Given the description of an element on the screen output the (x, y) to click on. 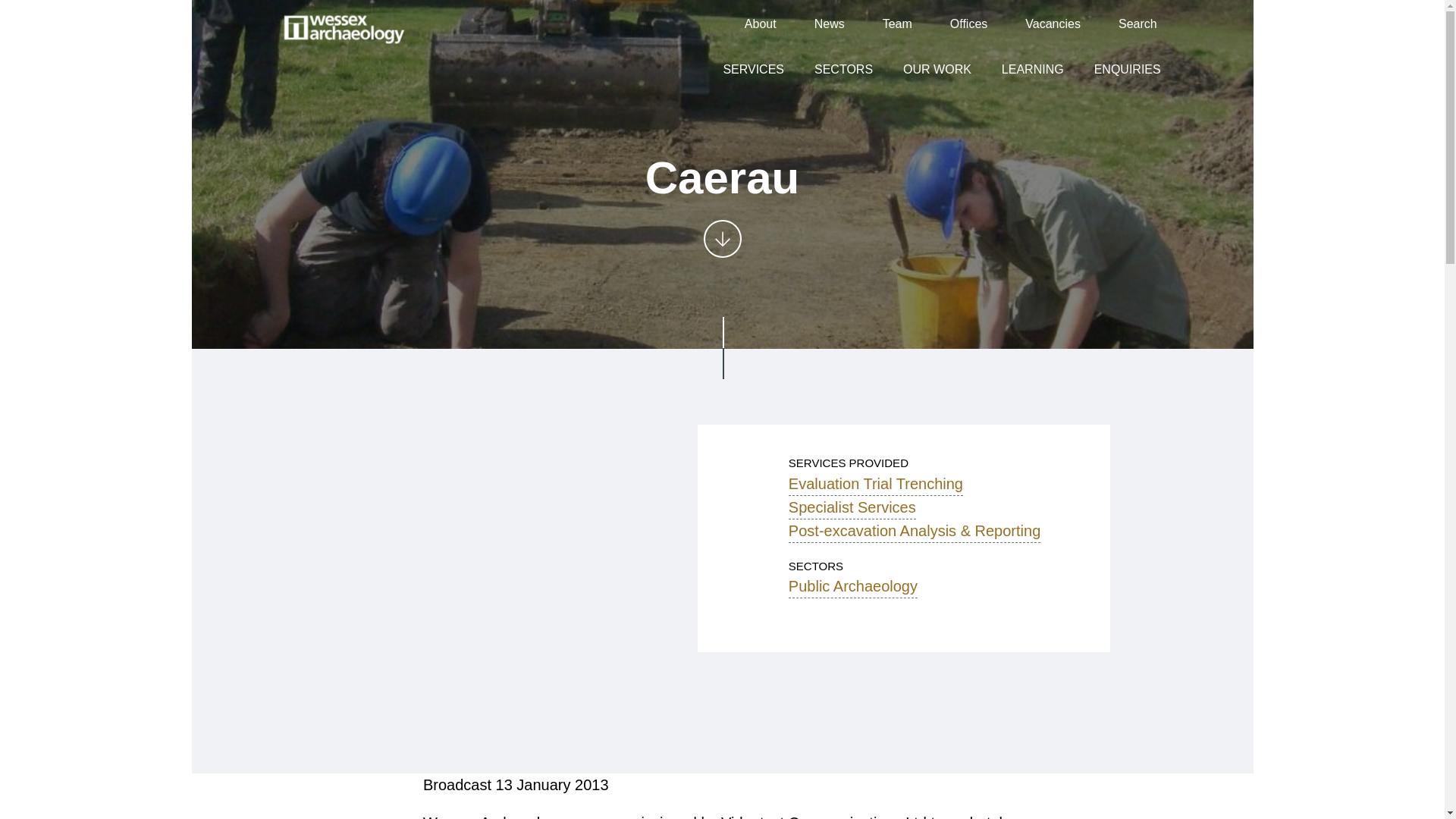
Evaluation Trial Trenching (875, 483)
Offices (969, 23)
Public Archaeology (853, 586)
LEARNING (1032, 67)
Archaeology News (828, 23)
Specialist Services (852, 507)
ENQUIRIES (1127, 67)
Search (1137, 23)
Home (343, 28)
Jump to content (722, 238)
News (828, 23)
SERVICES (753, 67)
OUR WORK (937, 67)
Team (897, 23)
